Given the description of an element on the screen output the (x, y) to click on. 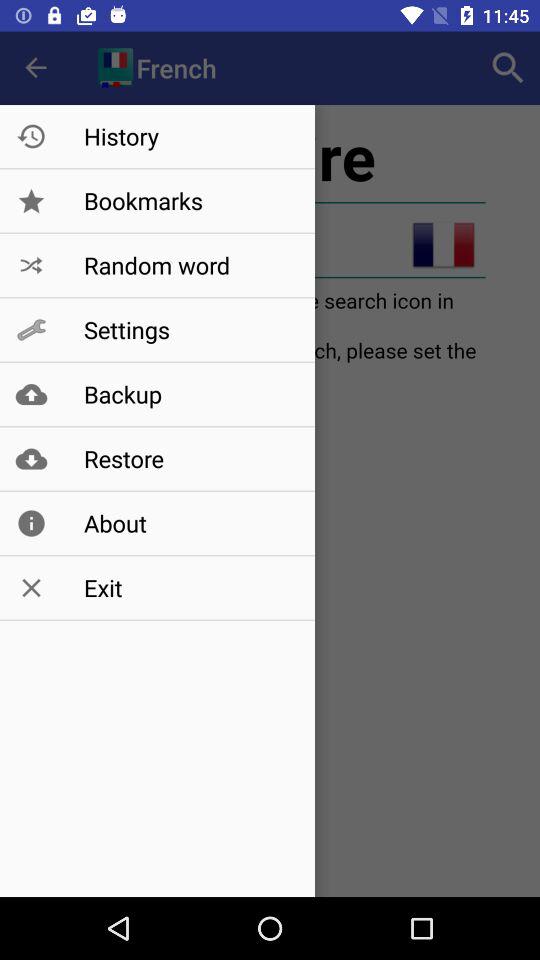
choose the item at the top right corner (508, 67)
